Given the description of an element on the screen output the (x, y) to click on. 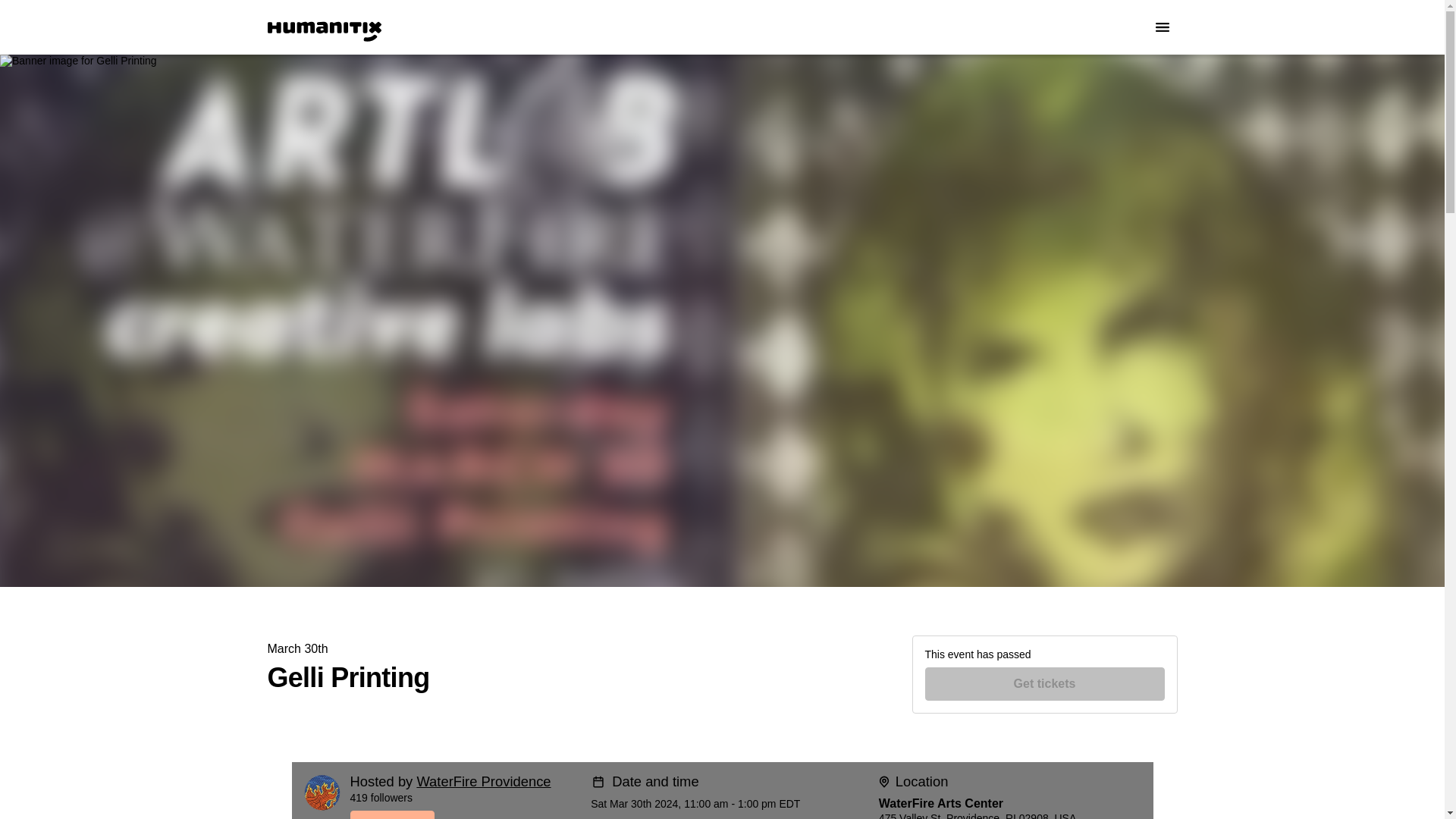
WaterFire Providence (483, 781)
Follow (465, 814)
Skip to Content (18, 18)
Get tickets (1044, 684)
